Given the description of an element on the screen output the (x, y) to click on. 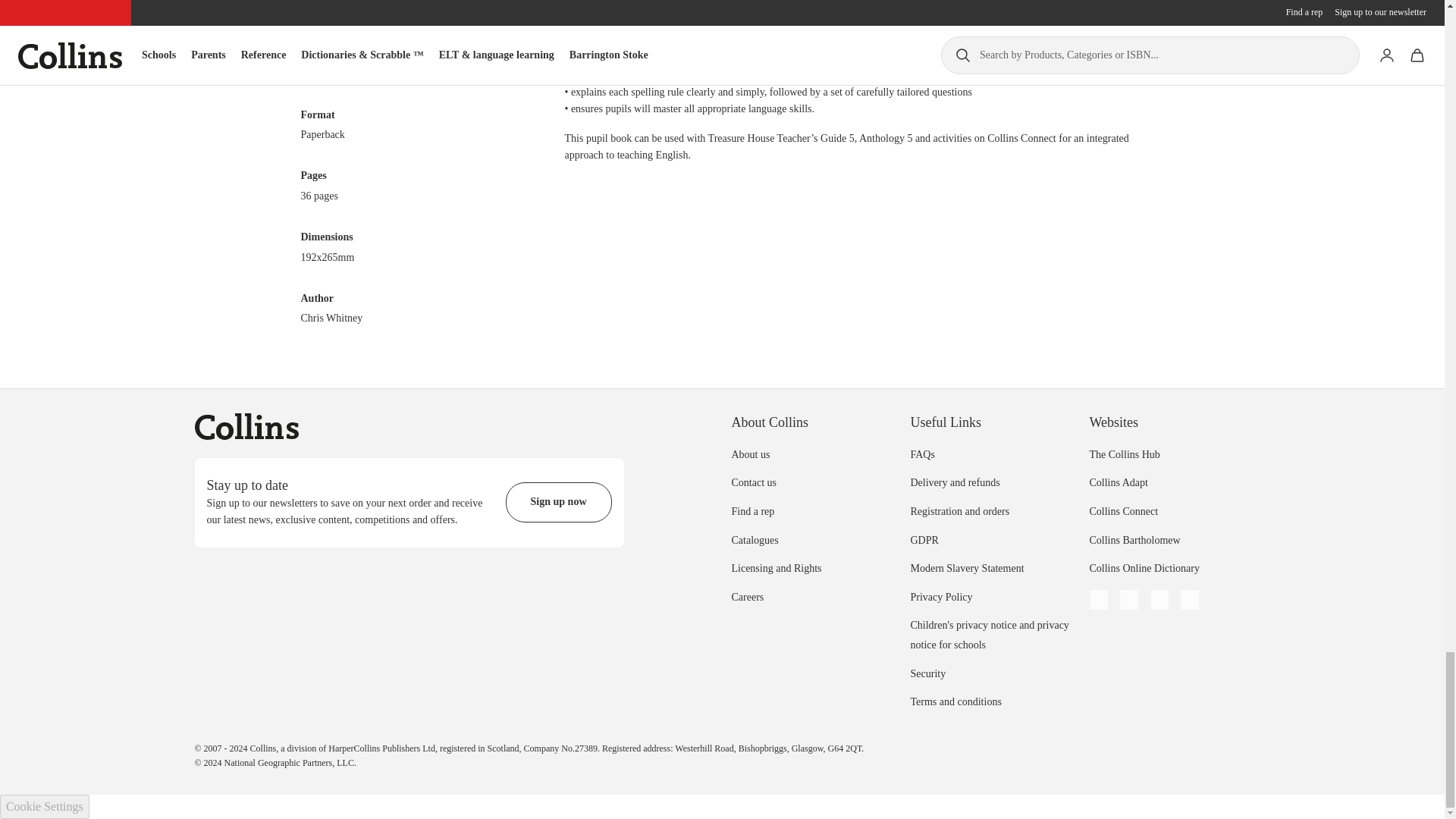
Find a rep (752, 511)
Careers (746, 596)
GDPR (923, 540)
Licensing and Rights (775, 568)
Registration and orders (959, 511)
Privacy Policy (941, 596)
FAQs (922, 454)
Delivery and refunds (954, 482)
Children's privacy notice and privacy notice for schools (989, 634)
Catalogues (753, 540)
About us (750, 454)
Modern Slavery Statement (966, 568)
Security (927, 673)
Terms and conditions (955, 701)
Sign up now (558, 501)
